Given the description of an element on the screen output the (x, y) to click on. 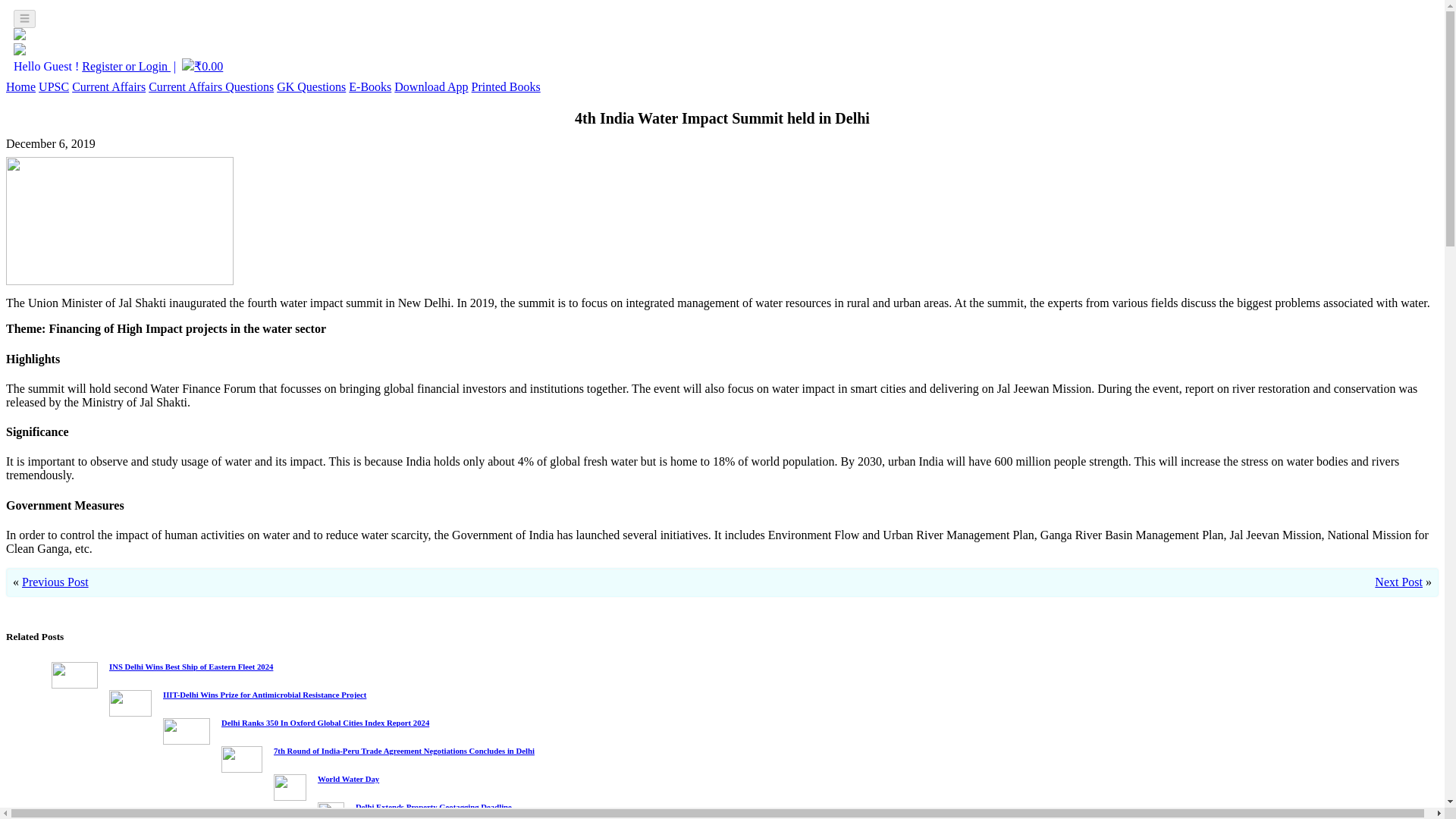
Current Affairs Questions (210, 86)
INS Delhi Wins Best Ship of Eastern Fleet 2024 (191, 665)
Download App (430, 86)
Home (19, 86)
Delhi Extends Property Geotagging Deadline (433, 806)
Delhi Ranks 350 In Oxford Global Cities Index Report 2024 (325, 722)
Printed Books (505, 86)
Next Post (1398, 581)
INS Delhi Wins Best Ship of Eastern Fleet 2024 (191, 665)
IIIT-Delhi Wins Prize for Antimicrobial Resistance Project (264, 694)
World Water Day (347, 777)
Delhi Ranks 350 In Oxford Global Cities Index Report 2024 (325, 722)
World Water Day (347, 777)
Register or Login (125, 65)
